Given the description of an element on the screen output the (x, y) to click on. 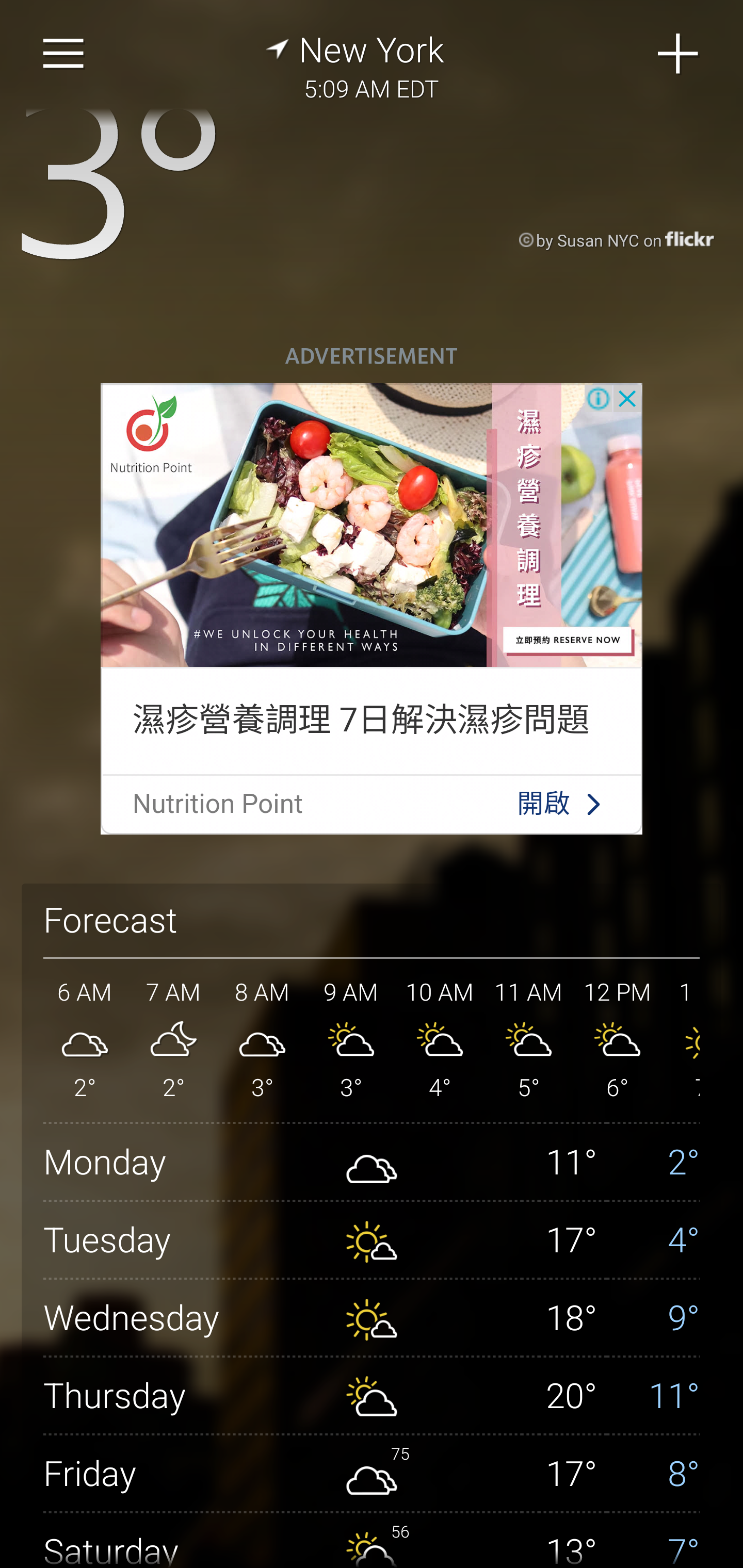
Sidebar (64, 54)
Add City (678, 53)
濕疹營養調理 7日解決濕疹問題 (359, 719)
Nutrition Point (217, 804)
開啟 (543, 804)
